Given the description of an element on the screen output the (x, y) to click on. 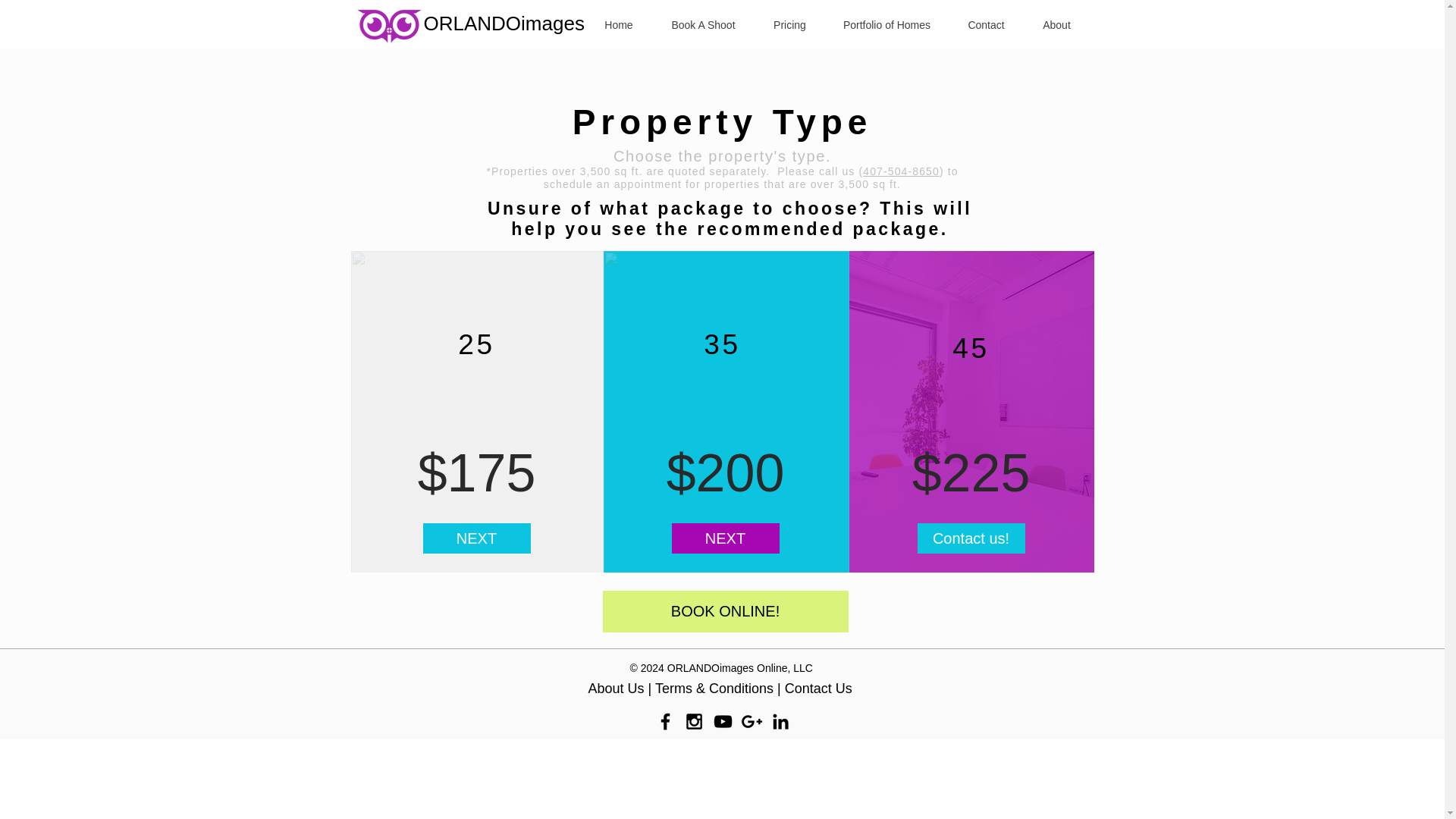
NEXT (724, 538)
About (1056, 25)
Contact us! (971, 538)
ORLANDOimages (503, 23)
Portfolio of Homes (887, 25)
Book A Shoot (703, 25)
Pricing (790, 25)
Home (617, 25)
Contact (986, 25)
NEXT (477, 538)
